Given the description of an element on the screen output the (x, y) to click on. 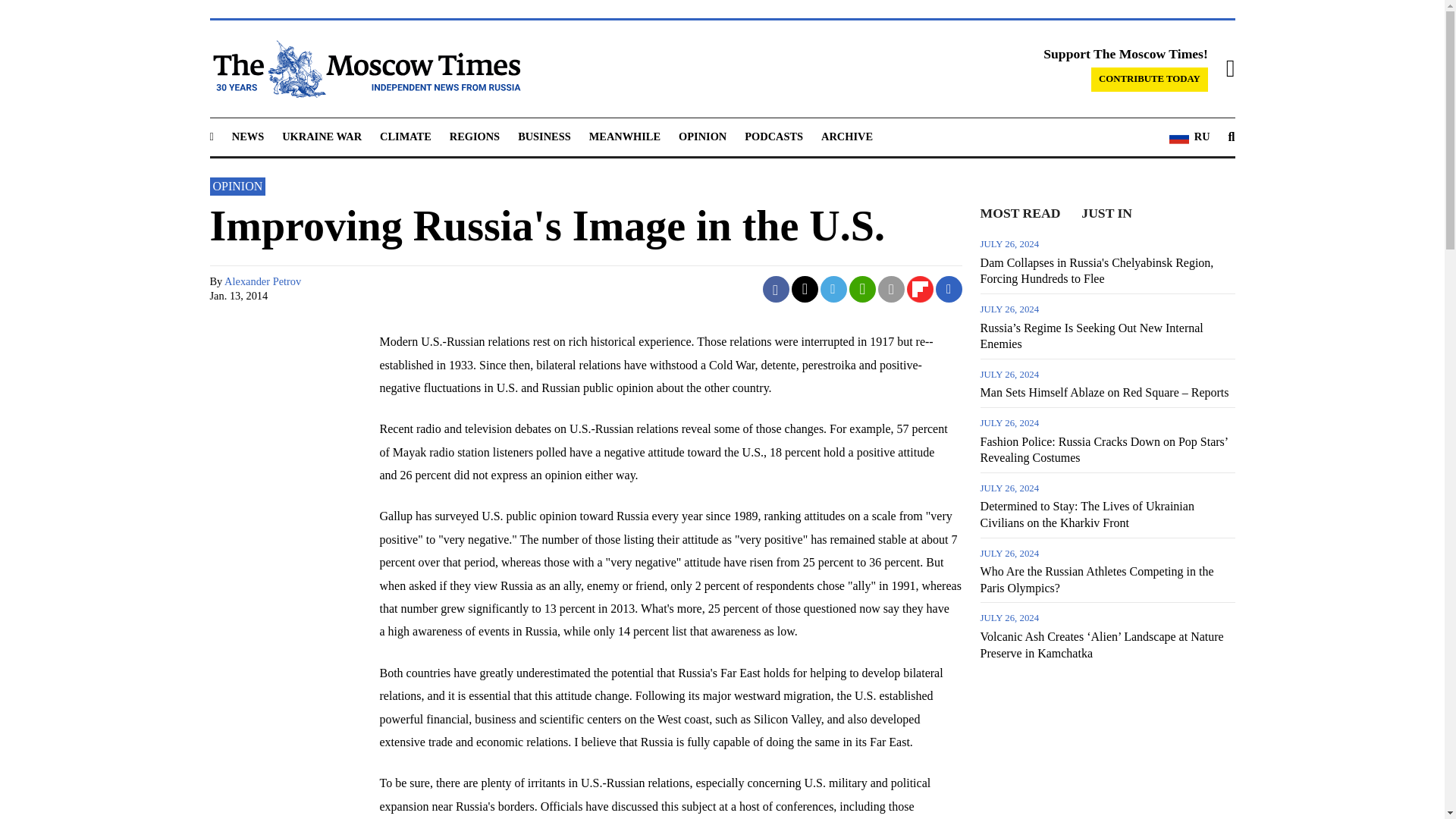
UKRAINE WAR (321, 136)
ARCHIVE (846, 136)
BUSINESS (544, 136)
REGIONS (474, 136)
CONTRIBUTE TODAY (1149, 79)
PODCASTS (773, 136)
Share on Twitter (805, 289)
Share on Facebook (775, 289)
Share on Flipboard (920, 289)
OPINION (702, 136)
Alexander Petrov (262, 281)
Download as PDF (948, 289)
Share on WhatsApp (863, 289)
RU (1189, 137)
CLIMATE (405, 136)
